Given the description of an element on the screen output the (x, y) to click on. 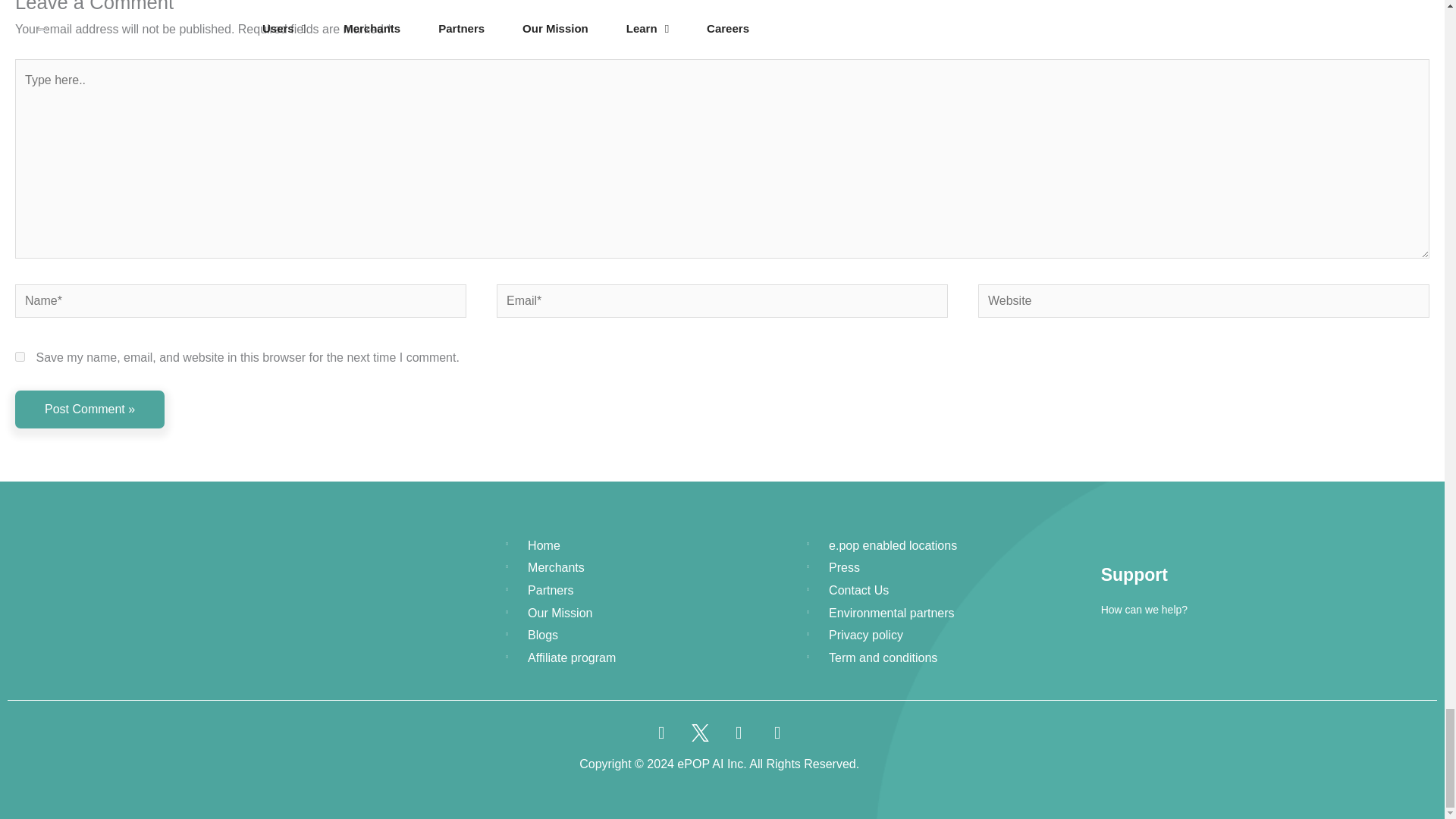
yes (19, 356)
